Given the description of an element on the screen output the (x, y) to click on. 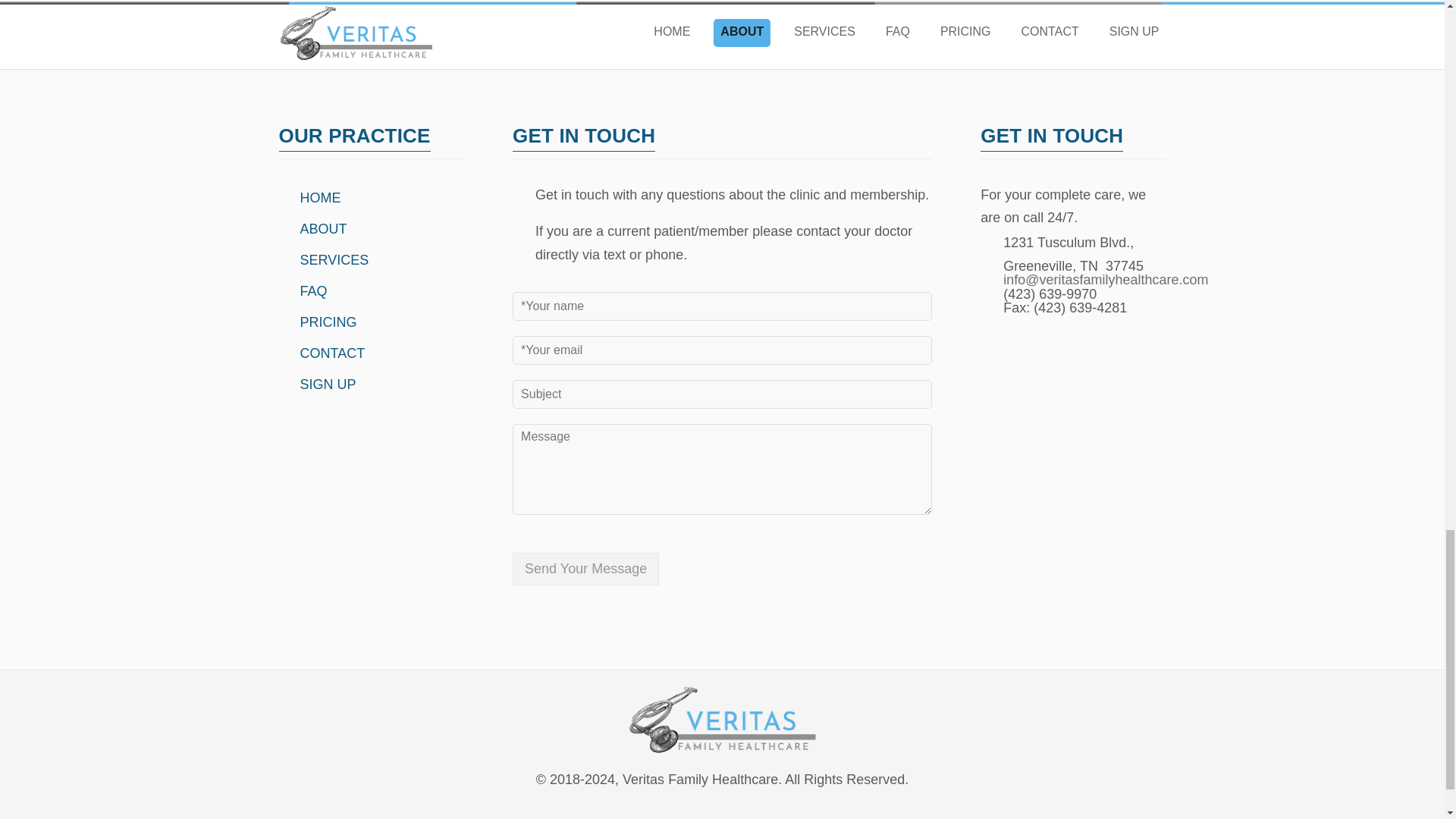
CONTACT (328, 353)
SERVICES (330, 259)
FAQ (309, 290)
SIGN UP (324, 384)
Send Your Message (585, 568)
ABOUT (319, 228)
VFH-Logo-Working (721, 719)
HOME (316, 197)
PRICING (324, 322)
